Given the description of an element on the screen output the (x, y) to click on. 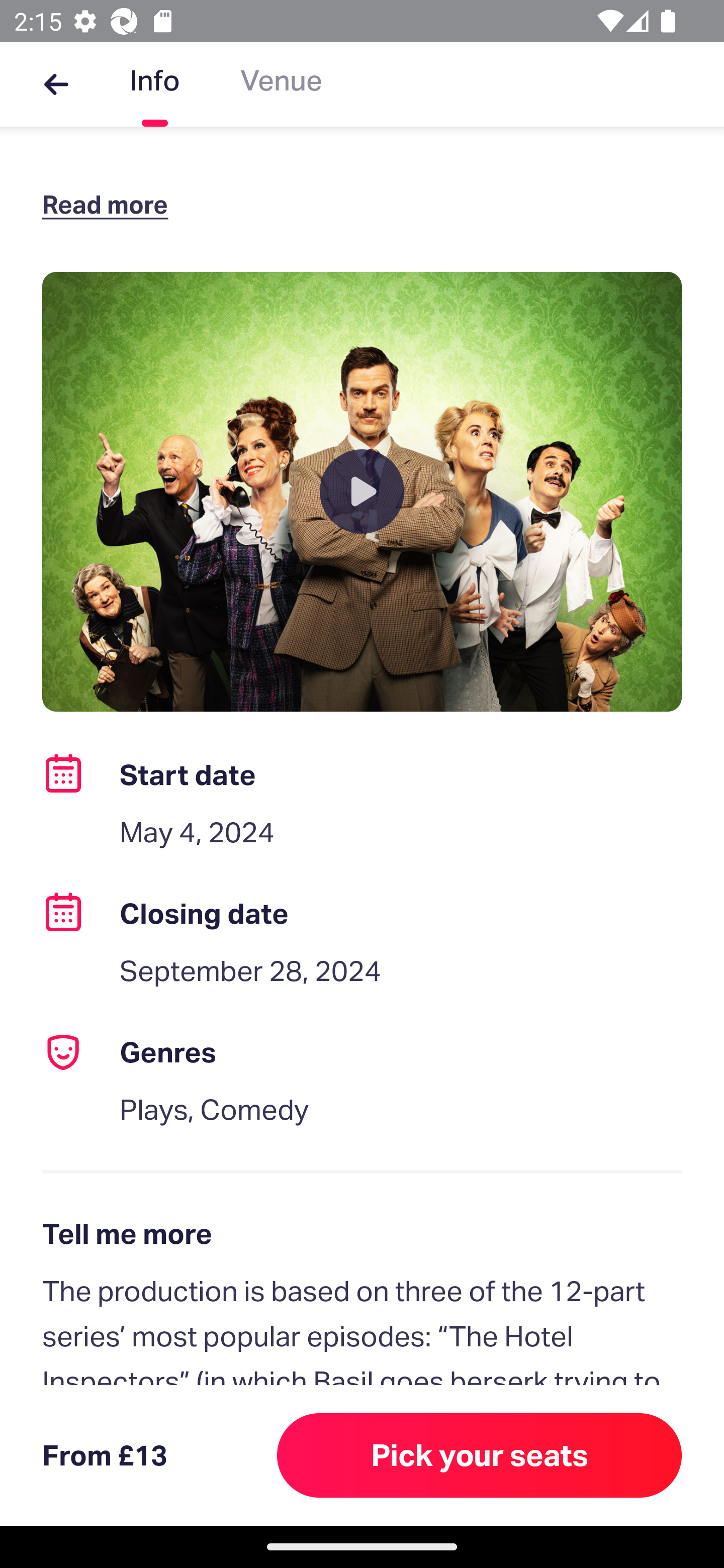
Venue (280, 84)
Read more (109, 203)
Tell me more (361, 1233)
Pick your seats (479, 1454)
